Given the description of an element on the screen output the (x, y) to click on. 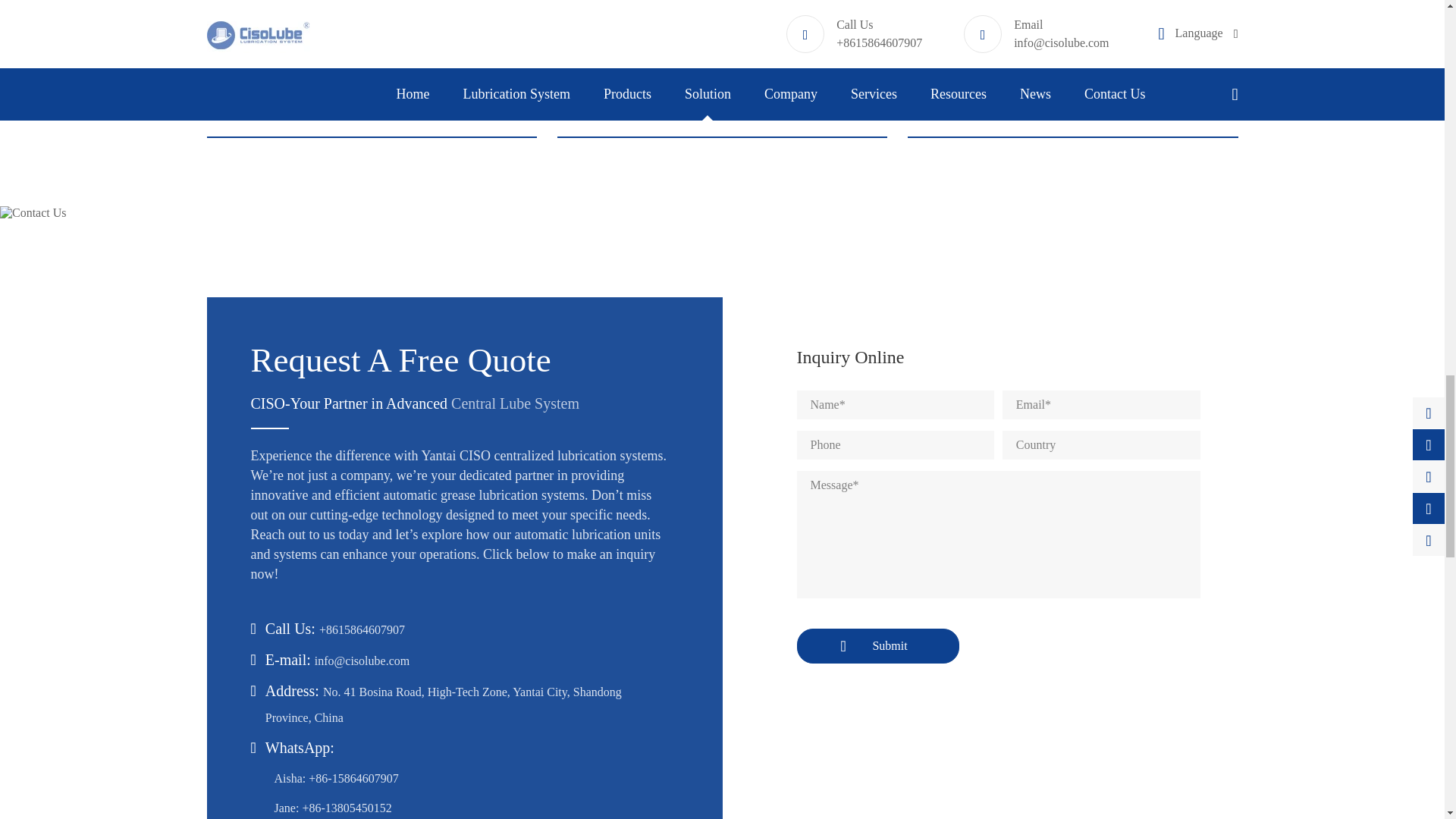
Submit (877, 645)
